Given the description of an element on the screen output the (x, y) to click on. 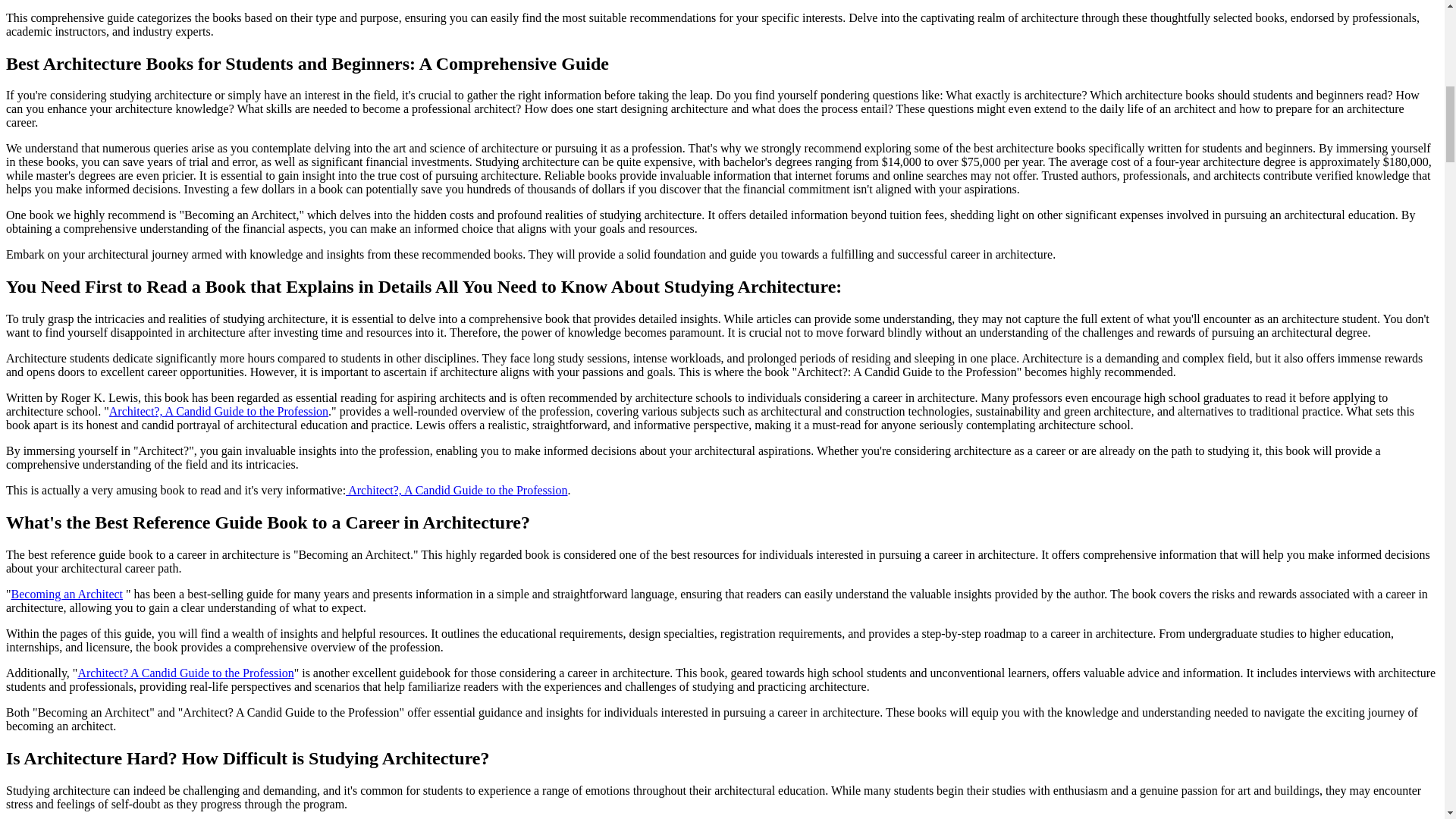
Becoming an Architect (67, 594)
 Architect?, A Candid Guide to the Profession (456, 490)
Architect? A Candid Guide to the Profession (185, 672)
Architect?, A Candid Guide to the Profession (219, 410)
